Given the description of an element on the screen output the (x, y) to click on. 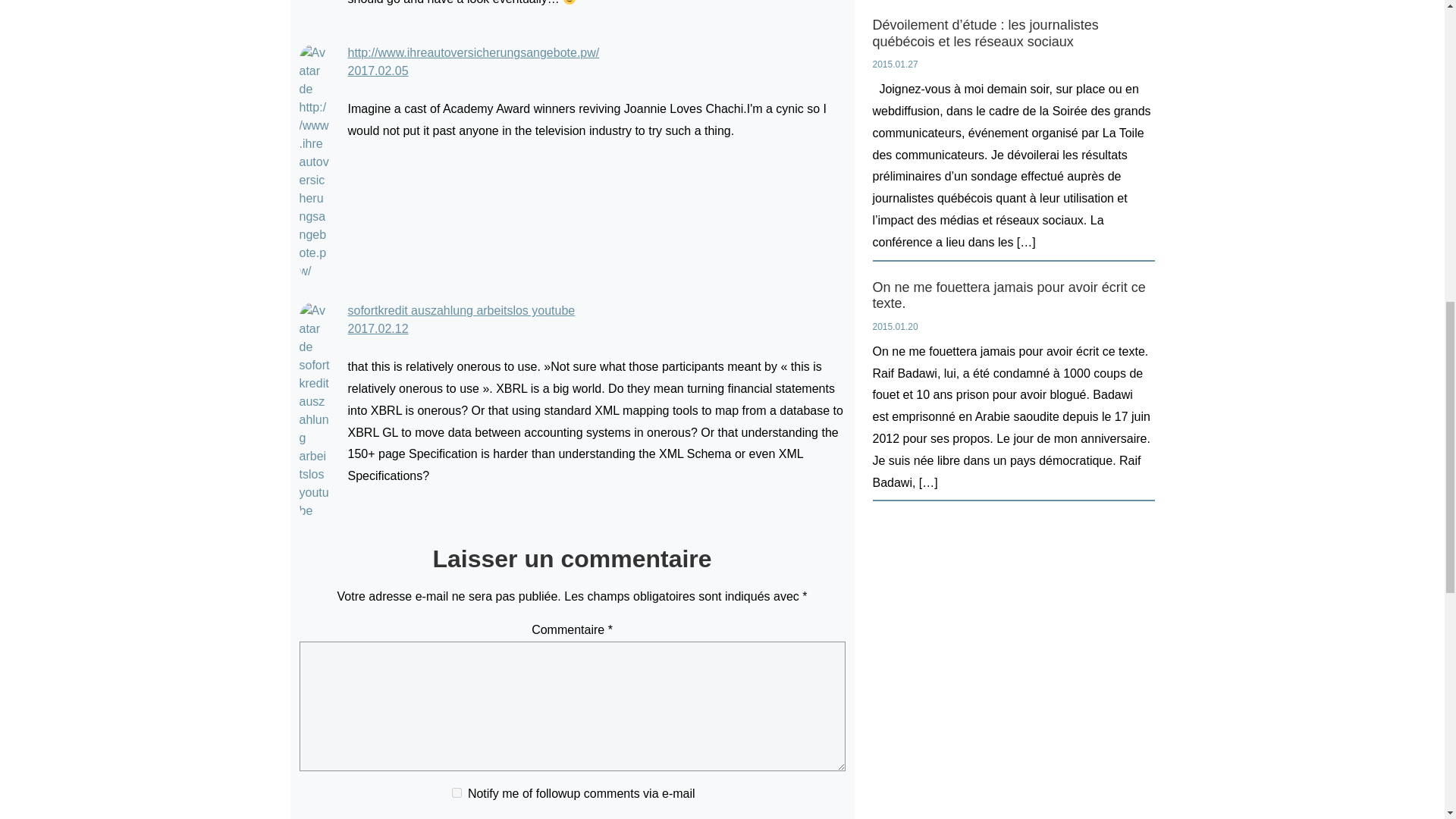
subscribe (456, 792)
2017.02.12 (377, 328)
2017.02.05 (377, 70)
sofortkredit auszahlung arbeitslos youtube (461, 309)
